Given the description of an element on the screen output the (x, y) to click on. 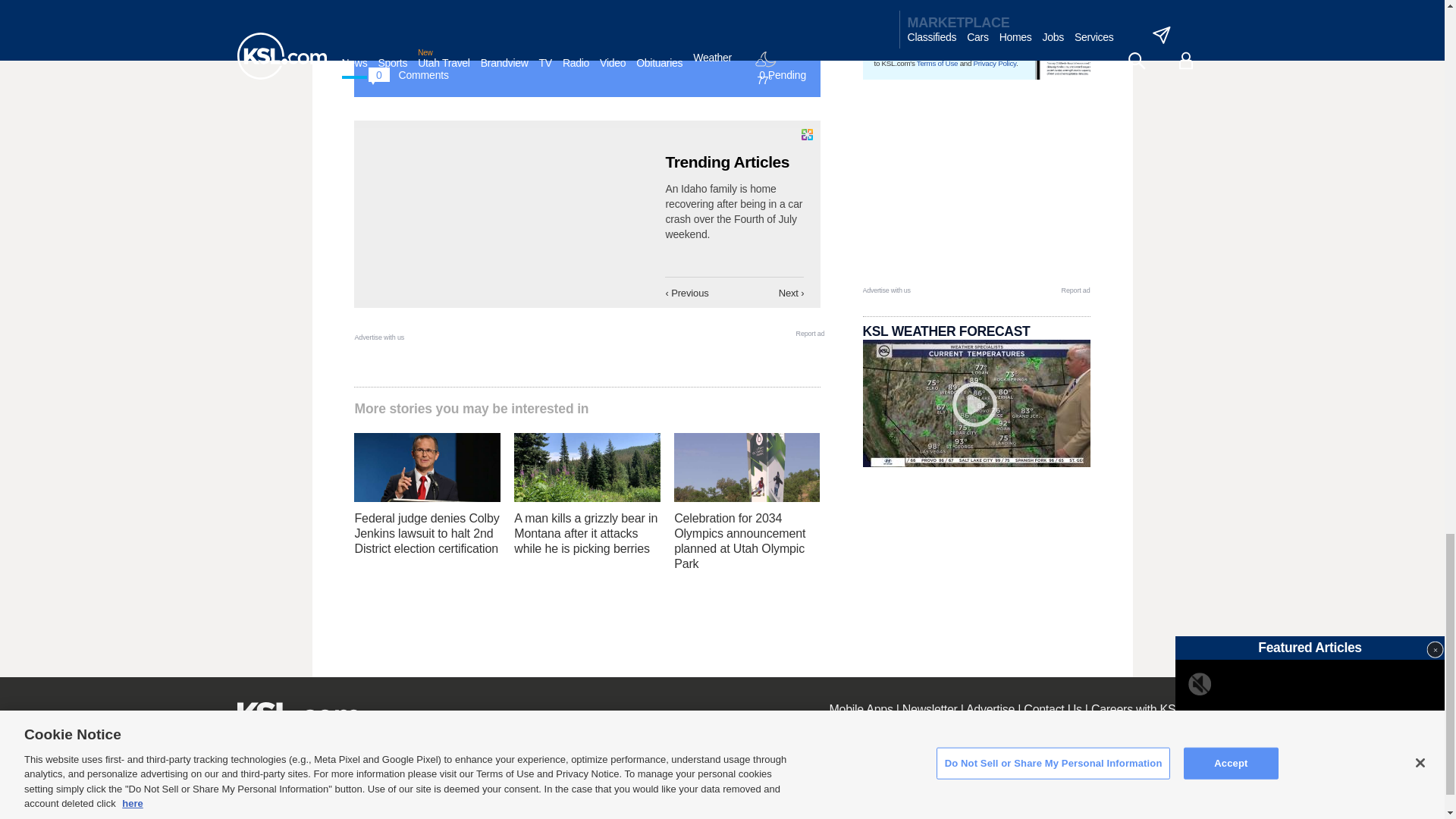
3rd party ad content (976, 189)
